Given the description of an element on the screen output the (x, y) to click on. 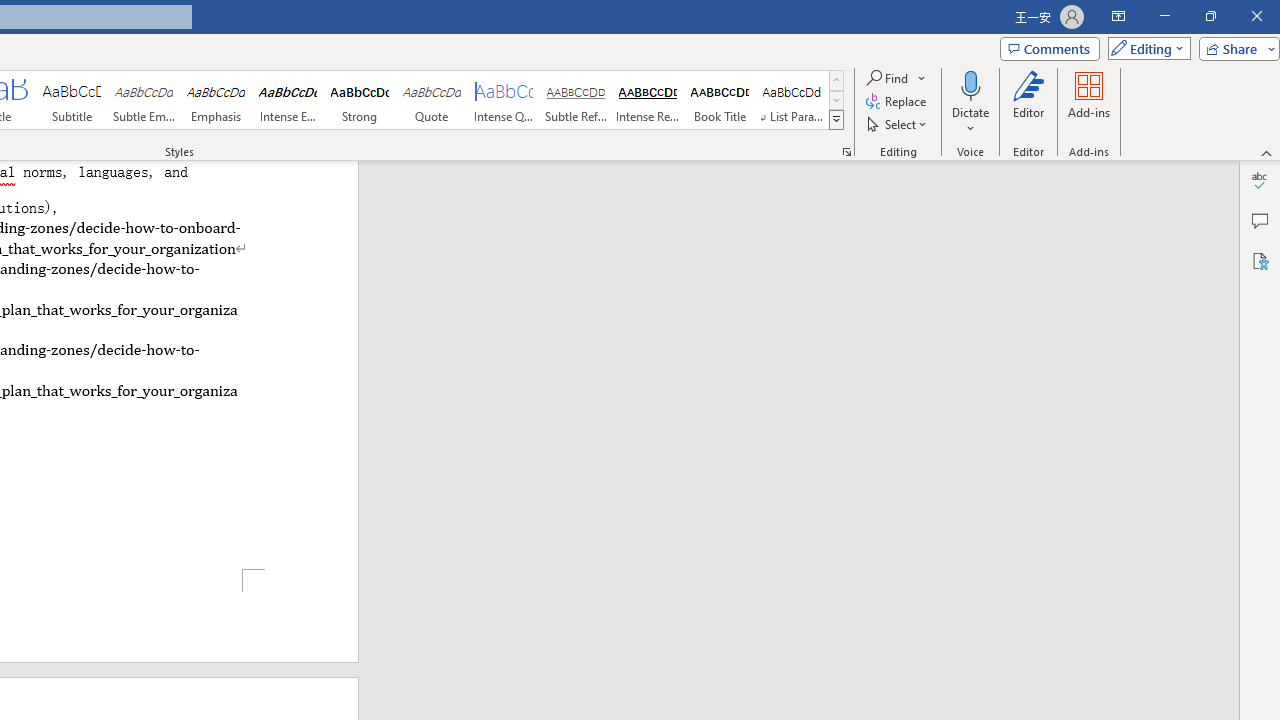
Subtle Reference (575, 100)
Emphasis (216, 100)
Intense Reference (647, 100)
Styles (836, 120)
Editing (1144, 47)
